Given the description of an element on the screen output the (x, y) to click on. 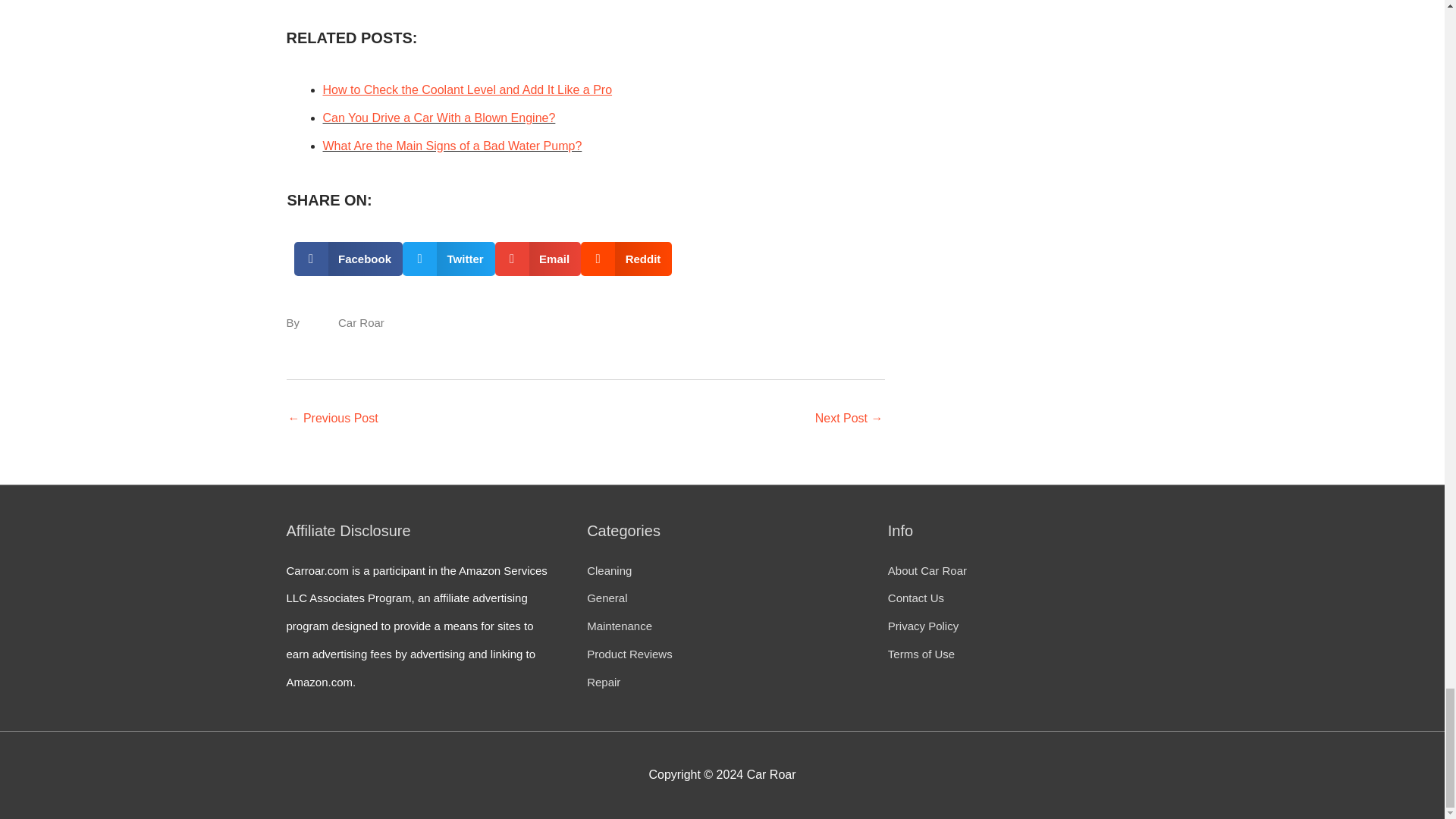
How to Check the Coolant Level and Add It Like a Pro (467, 89)
What Are the Main Signs of a Bad Water Pump? (452, 145)
Can You Drive a Car With a Blown Engine? (439, 117)
Which Car Brands Does the BMW Group Own? (333, 419)
How to Break a Car Window From the Inside in an Emergency (849, 419)
